Given the description of an element on the screen output the (x, y) to click on. 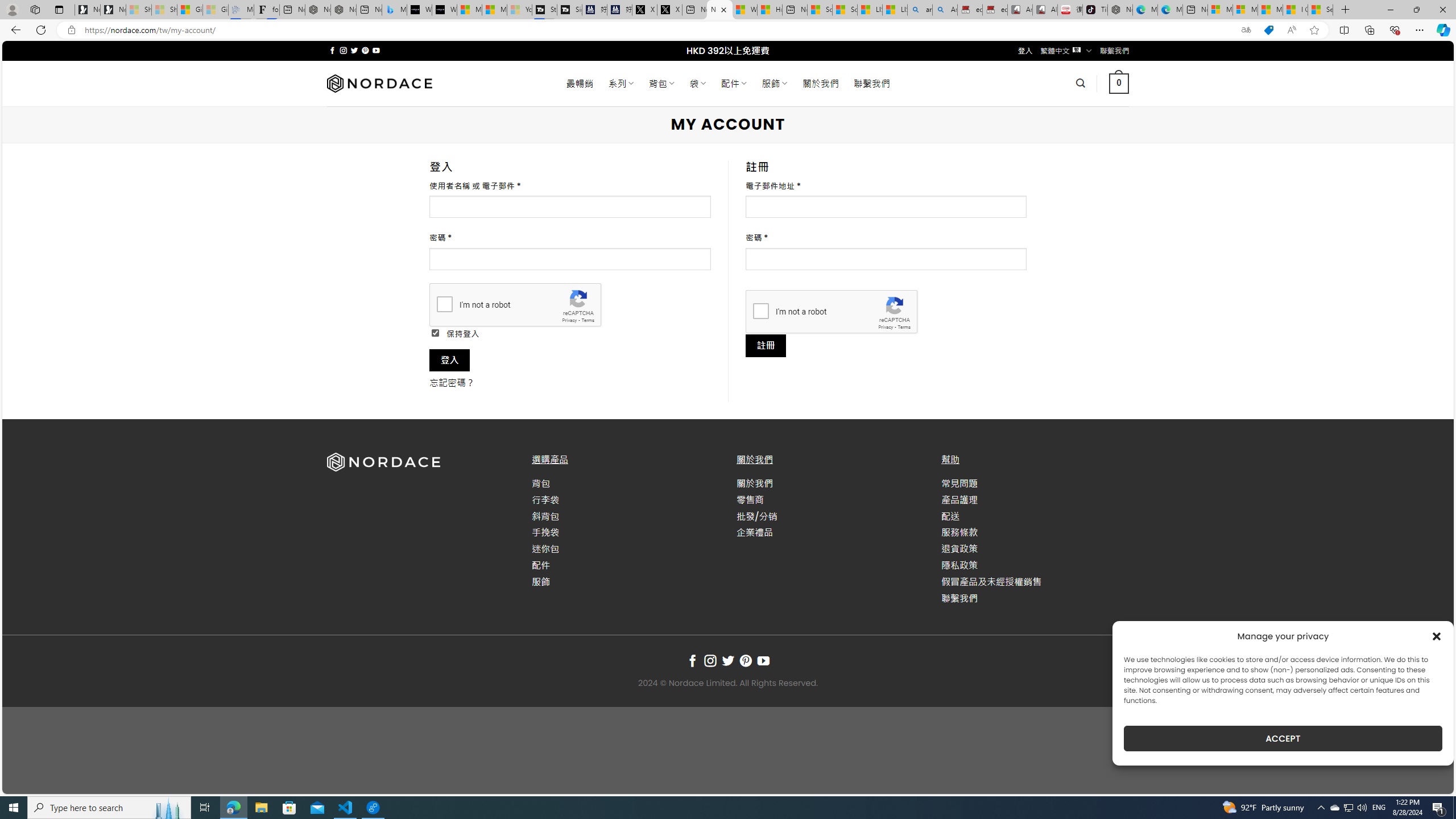
Refresh (40, 29)
  0   (1118, 83)
Close tab (723, 9)
Workspaces (34, 9)
Microsoft account | Privacy (1244, 9)
Microsoft Start Sports (469, 9)
Huge shark washes ashore at New York City beach | Watch (769, 9)
Nordace - Best Sellers (1119, 9)
